Given the description of an element on the screen output the (x, y) to click on. 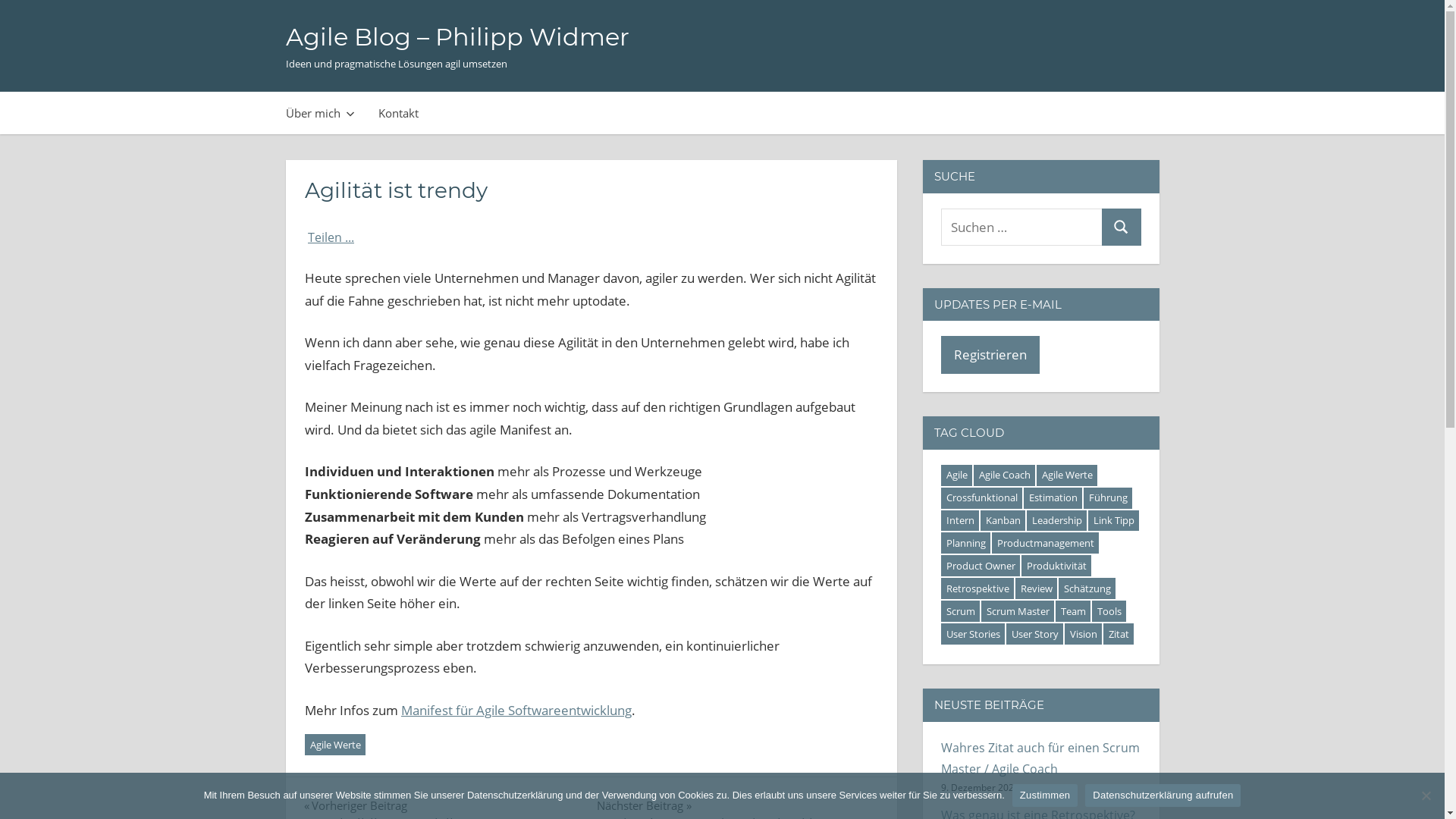
Link Tipp Element type: text (1113, 519)
Productmanagement Element type: text (1044, 542)
Intern Element type: text (960, 519)
Kanban Element type: text (1002, 519)
Teilen ... Element type: text (330, 237)
Agile Werte Element type: text (334, 744)
Retrospektive Element type: text (977, 588)
Agile Werte Element type: text (1066, 475)
Ablehnen Element type: hover (1425, 795)
Crossfunktional Element type: text (981, 497)
Agile Element type: text (956, 475)
Vision Element type: text (1082, 633)
Team Element type: text (1072, 610)
Zitat Element type: text (1118, 633)
Suchen Element type: text (1120, 225)
Scrum Master Element type: text (1017, 610)
Leadership Element type: text (1056, 519)
Planning Element type: text (965, 542)
Zustimmen Element type: text (1045, 795)
Agile Coach Element type: text (1004, 475)
Tools Element type: text (1109, 610)
Suchen nach: Element type: hover (1021, 225)
Product Owner Element type: text (980, 565)
Review Element type: text (1036, 588)
Kontakt Element type: text (398, 112)
Scrum Element type: text (960, 610)
Registrieren Element type: text (990, 354)
User Stories Element type: text (972, 633)
User Story Element type: text (1034, 633)
Estimation Element type: text (1052, 497)
